Given the description of an element on the screen output the (x, y) to click on. 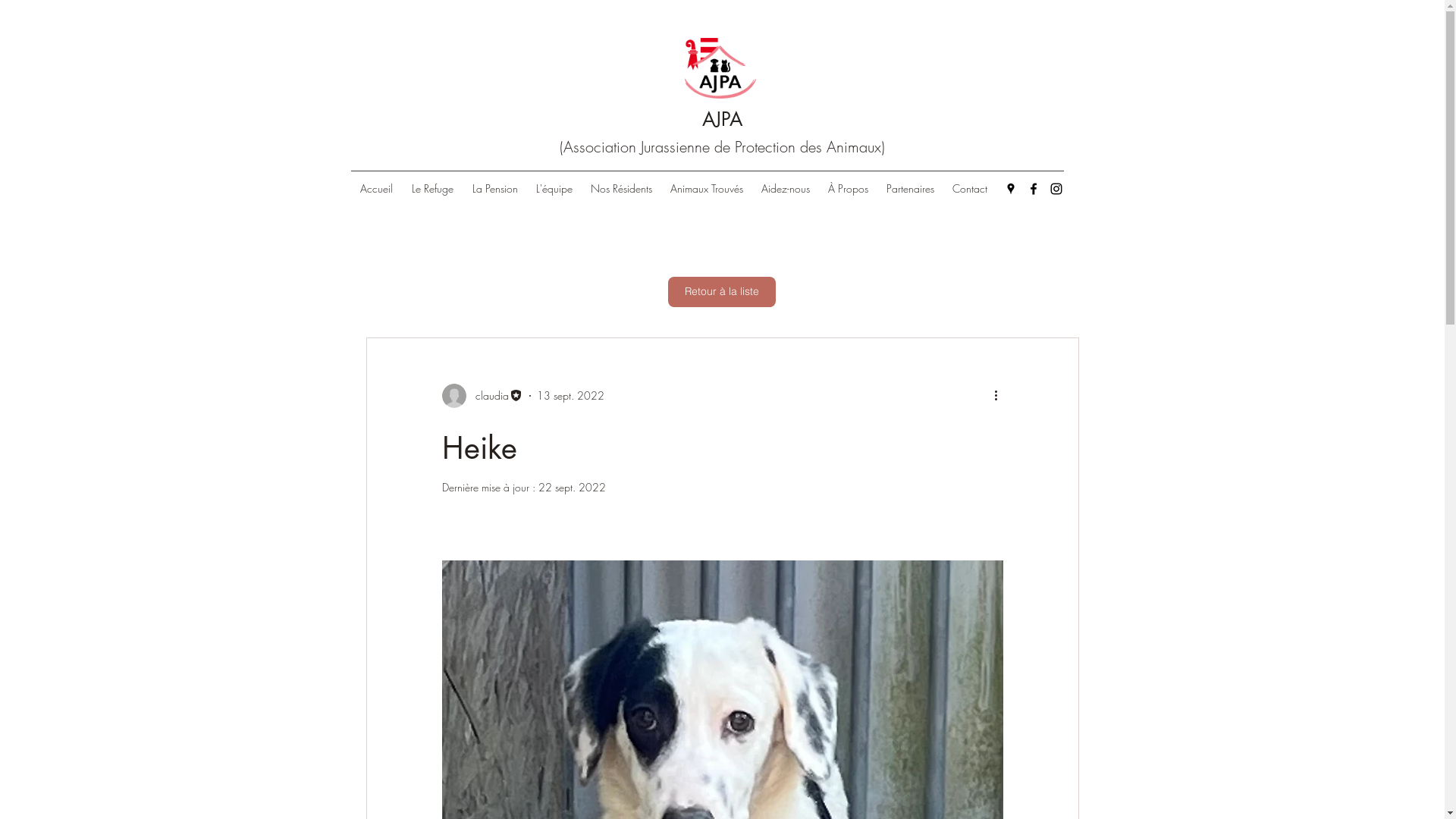
AJPA Element type: text (722, 118)
La Pension Element type: text (494, 188)
Partenaires Element type: text (909, 188)
Accueil Element type: text (375, 188)
Contact Element type: text (969, 188)
(Association Jurassienne de Protection des Animaux) Element type: text (721, 146)
Le Refuge Element type: text (431, 188)
